Given the description of an element on the screen output the (x, y) to click on. 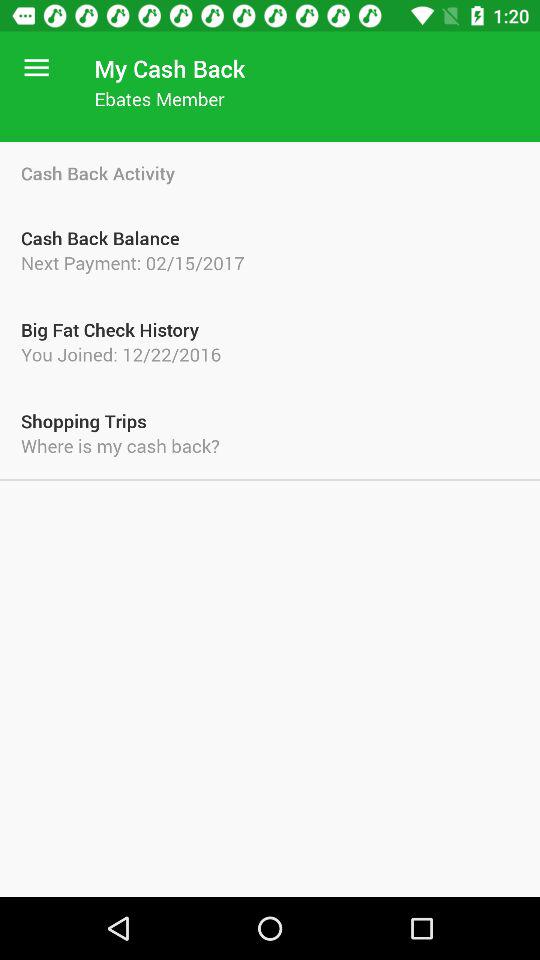
open the icon below big fat check item (270, 353)
